Given the description of an element on the screen output the (x, y) to click on. 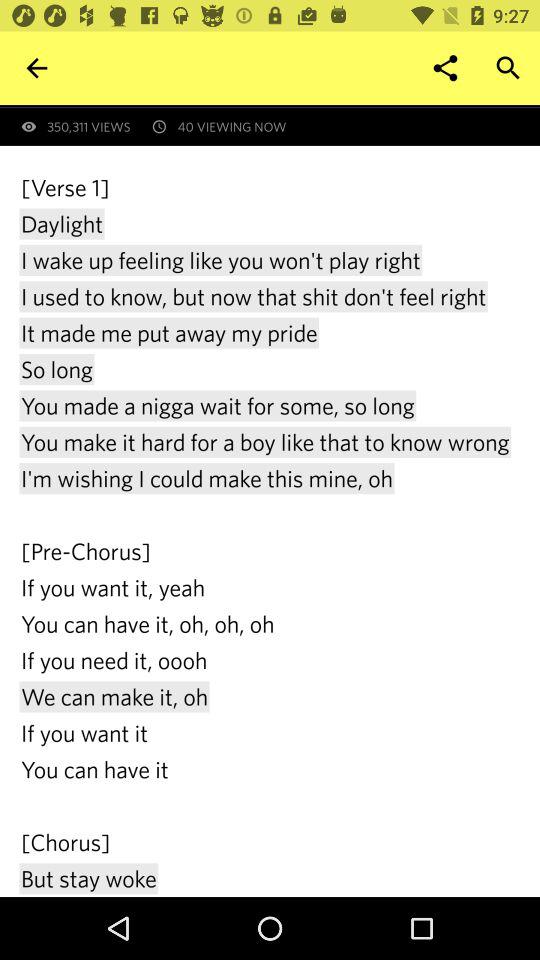
choose first revealed at (280, 106)
